Given the description of an element on the screen output the (x, y) to click on. 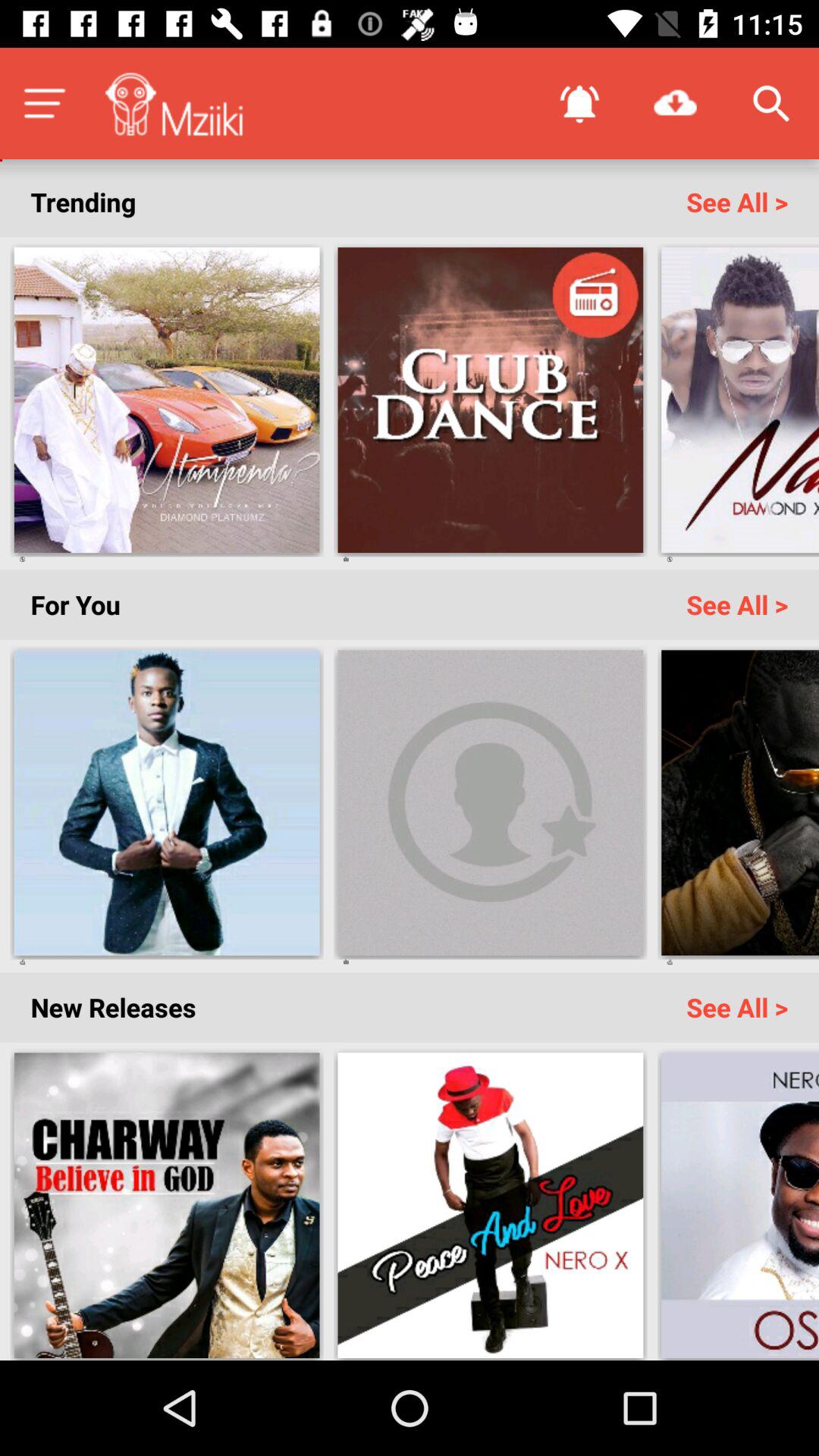
click the icon above the see all > icon (675, 103)
